Given the description of an element on the screen output the (x, y) to click on. 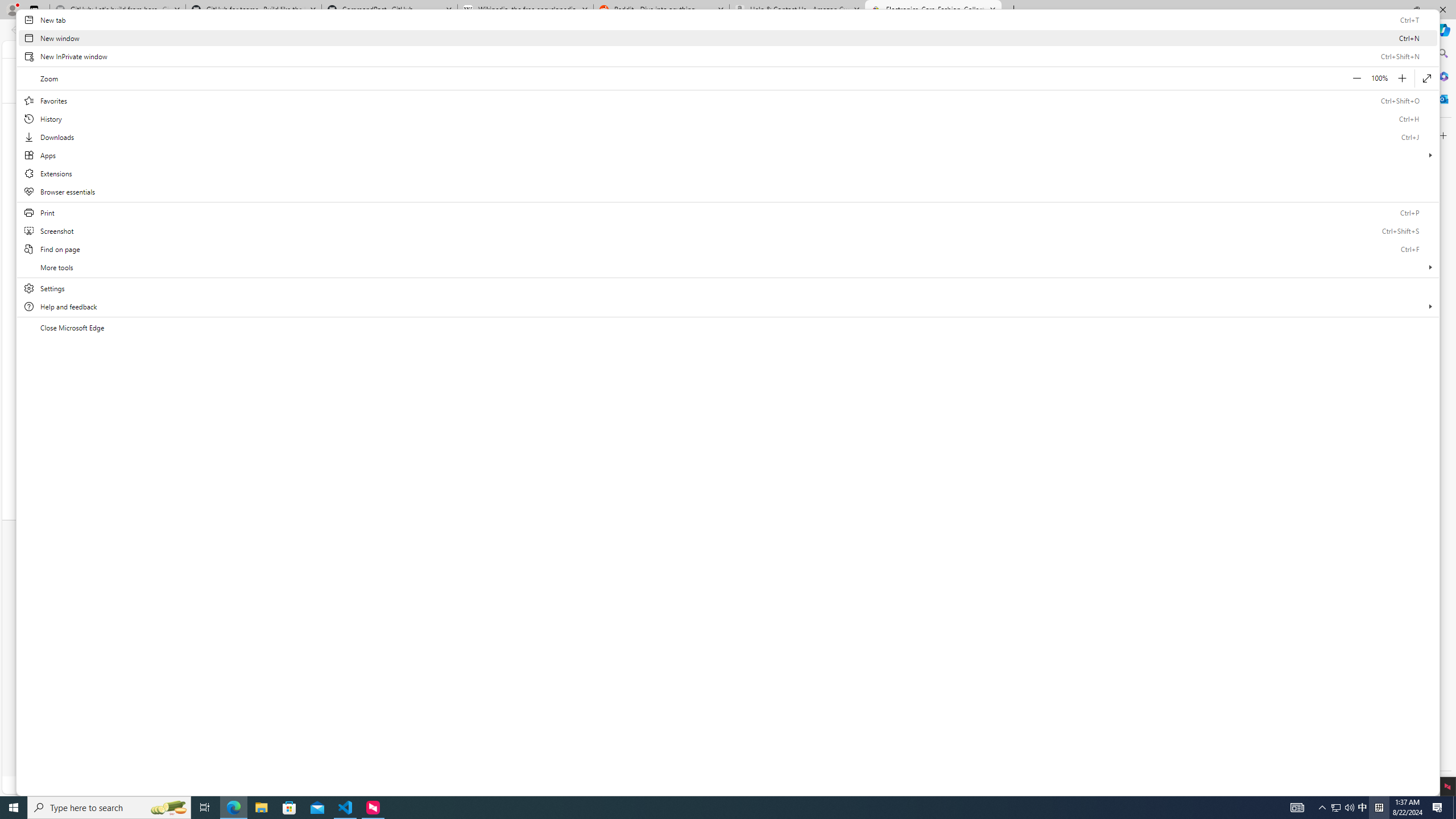
Downloads (727, 136)
Settings and more (728, 409)
This site has coupons! Shopping in Microsoft Edge (1243, 29)
News (806, 587)
Health & BeautyExpand: Health & Beauty (752, 112)
User Agreement (573, 749)
Learn to sell (557, 587)
Saved (450, 112)
Discussion boards (993, 638)
Luxury (408, 433)
Deals (955, 112)
